Given the description of an element on the screen output the (x, y) to click on. 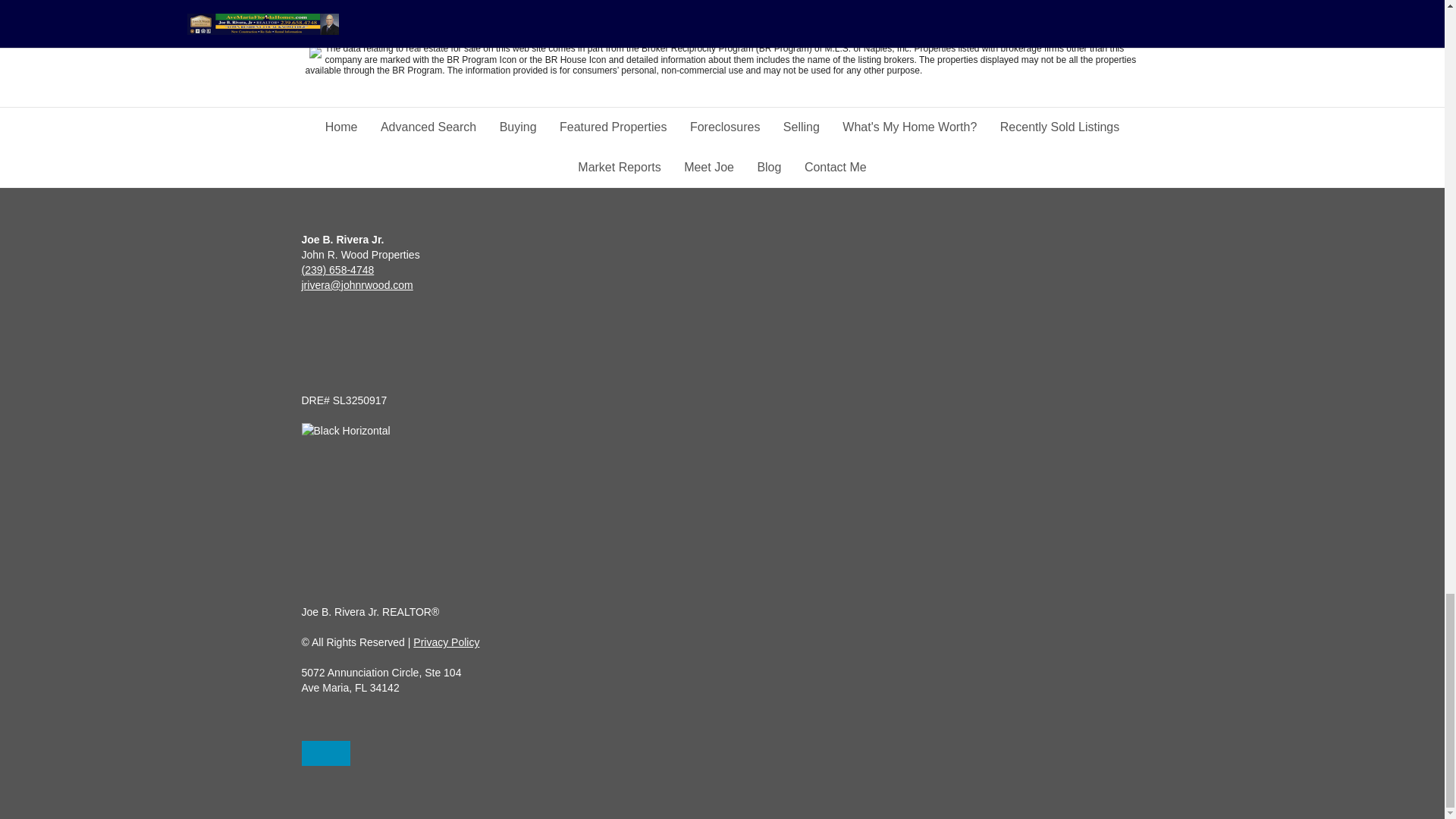
Go to top (325, 753)
